Given the description of an element on the screen output the (x, y) to click on. 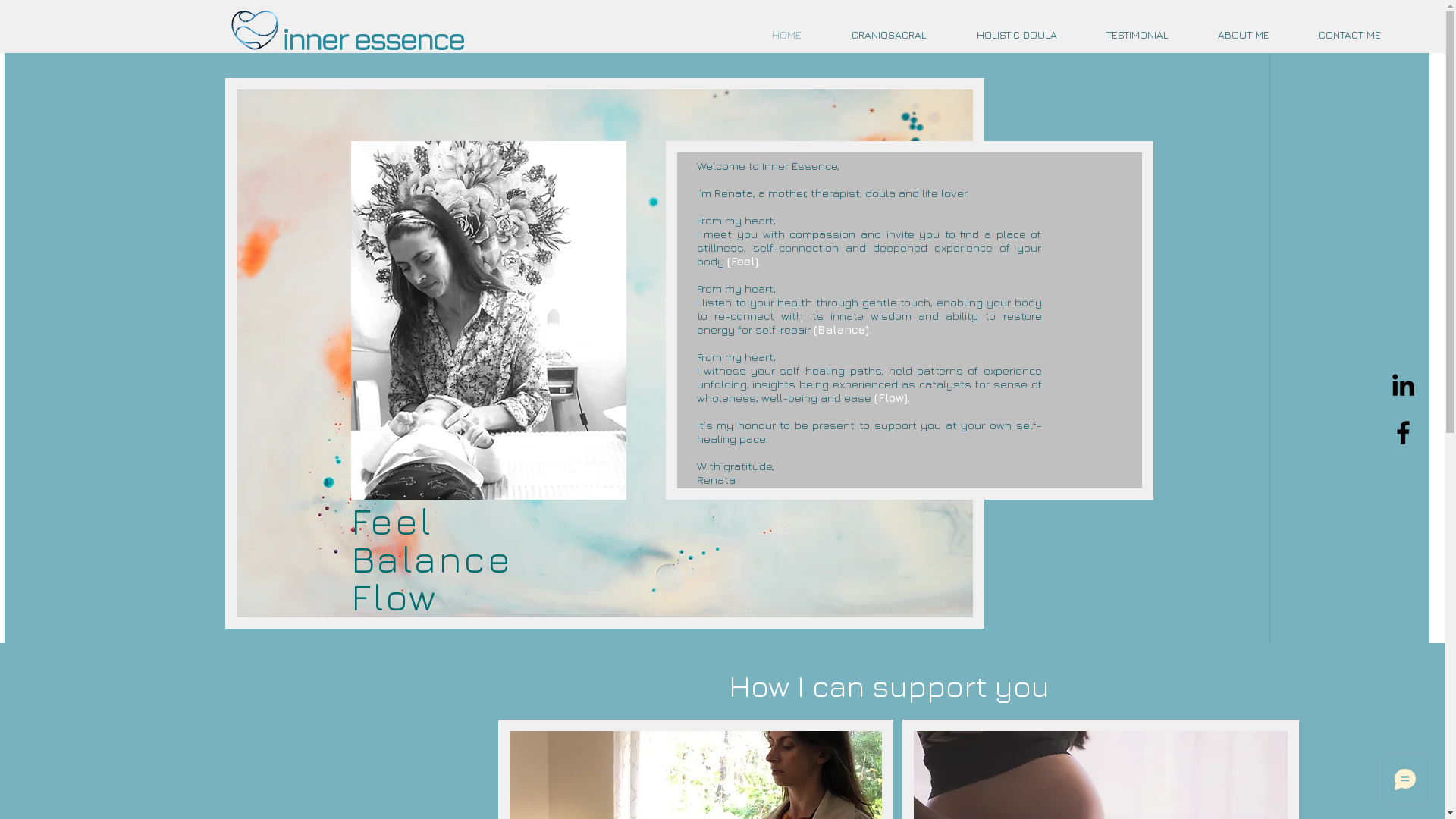
HOME Element type: text (786, 34)
CONTACT ME Element type: text (1349, 34)
TESTIMONIAL Element type: text (1136, 34)
CRANIOSACRAL Element type: text (888, 34)
ABOUT ME Element type: text (1242, 34)
HOLISTIC DOULA Element type: text (1016, 34)
